Given the description of an element on the screen output the (x, y) to click on. 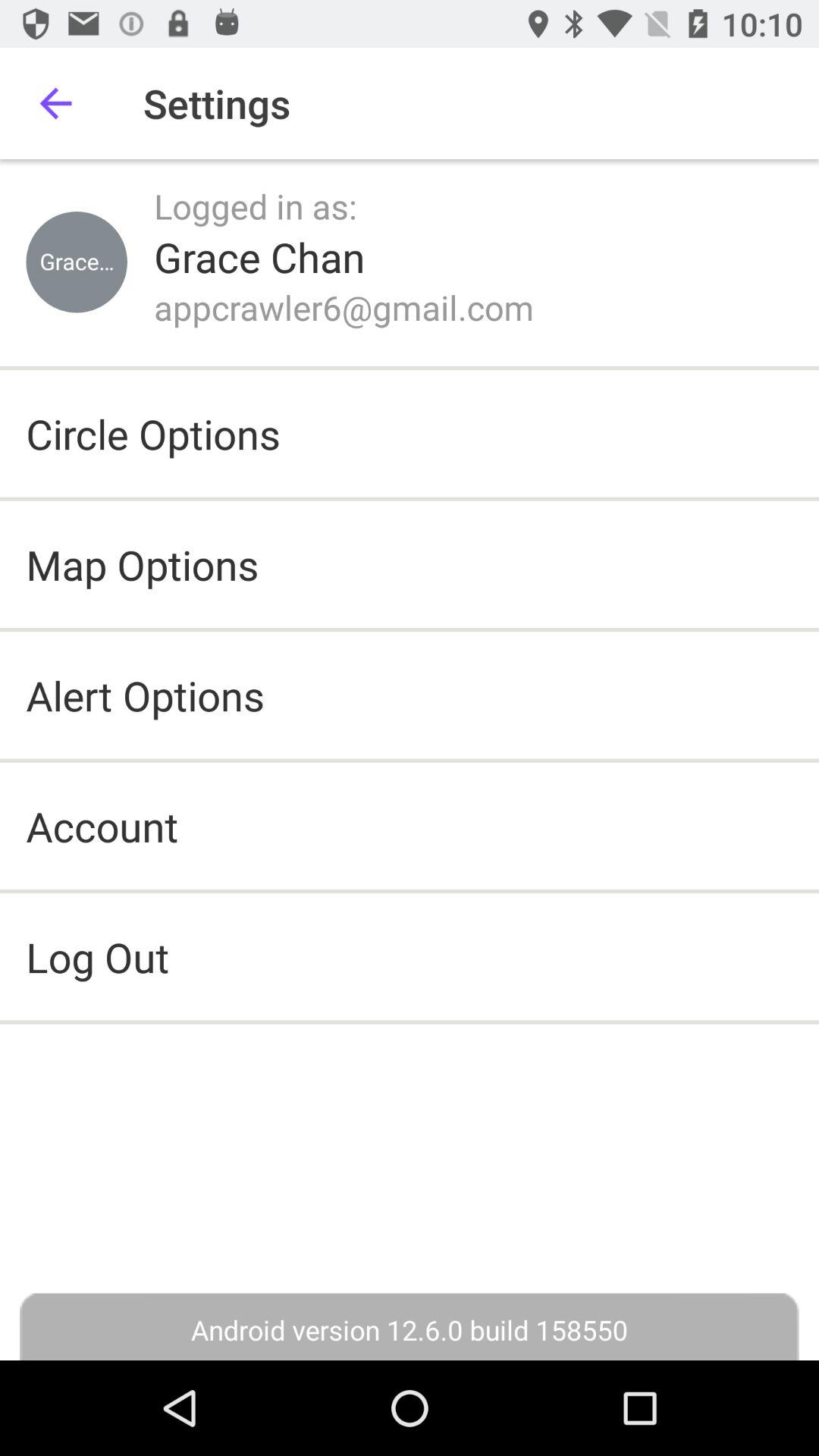
select icon below the appcrawler6@gmail.com (153, 433)
